Given the description of an element on the screen output the (x, y) to click on. 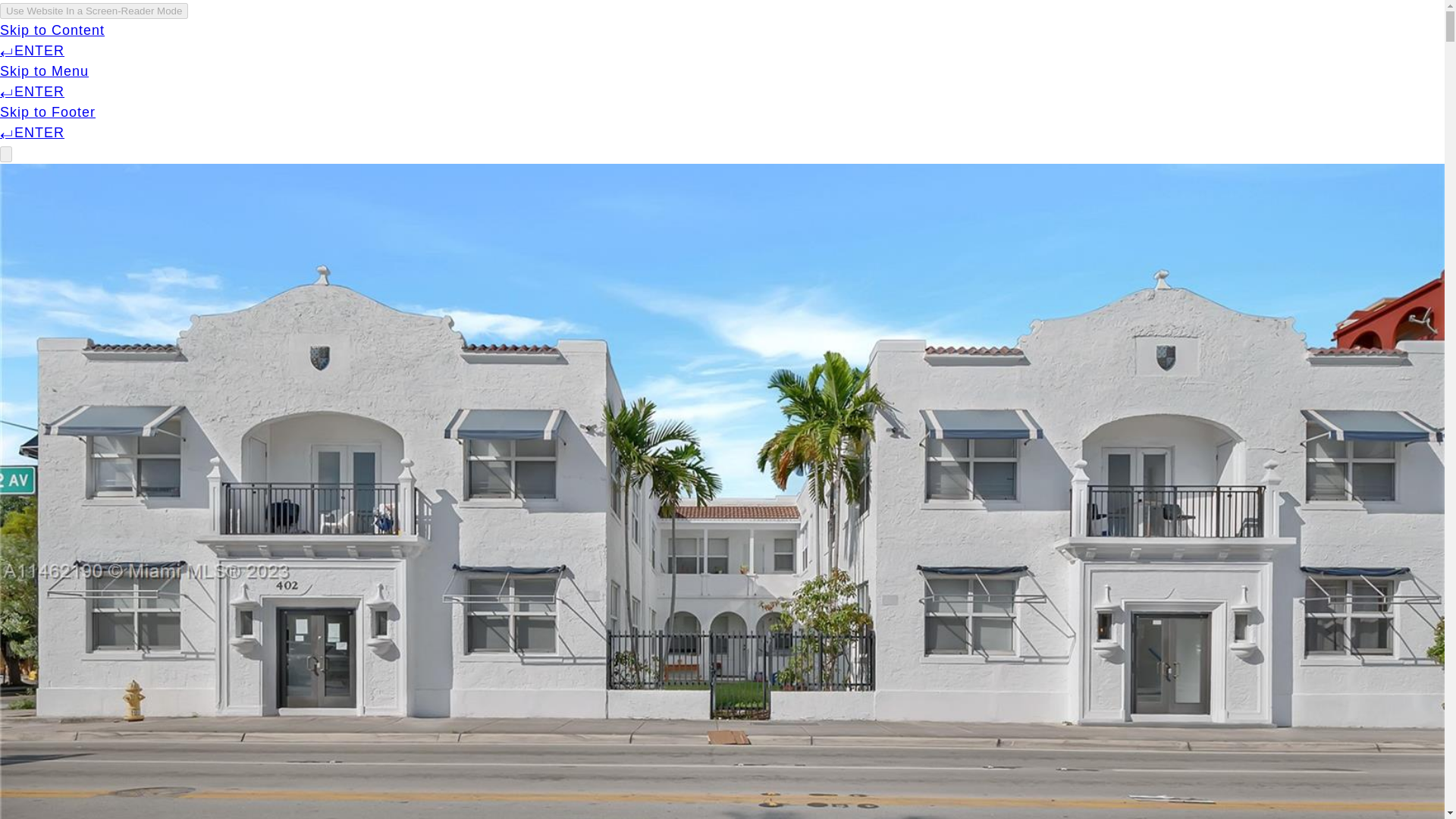
Contact (1184, 42)
Neighborhoods (991, 42)
Company (638, 42)
Listings (873, 42)
Blog (1099, 42)
Achievements (759, 42)
Services (534, 42)
